Given the description of an element on the screen output the (x, y) to click on. 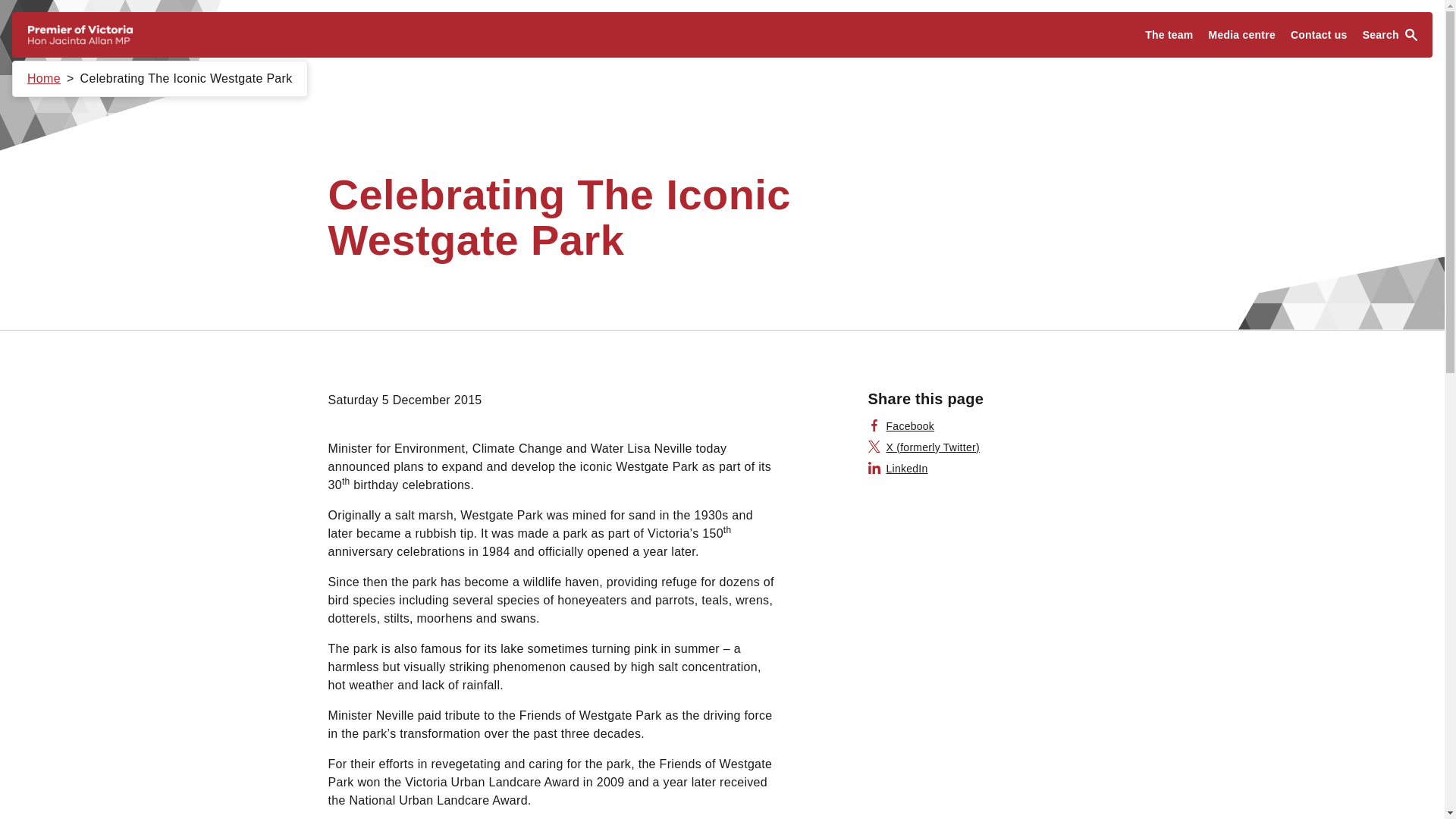
Media centre (1241, 34)
Contact us (1318, 34)
Facebook (900, 426)
The team (1168, 34)
LinkedIn (897, 468)
Home (44, 78)
